Given the description of an element on the screen output the (x, y) to click on. 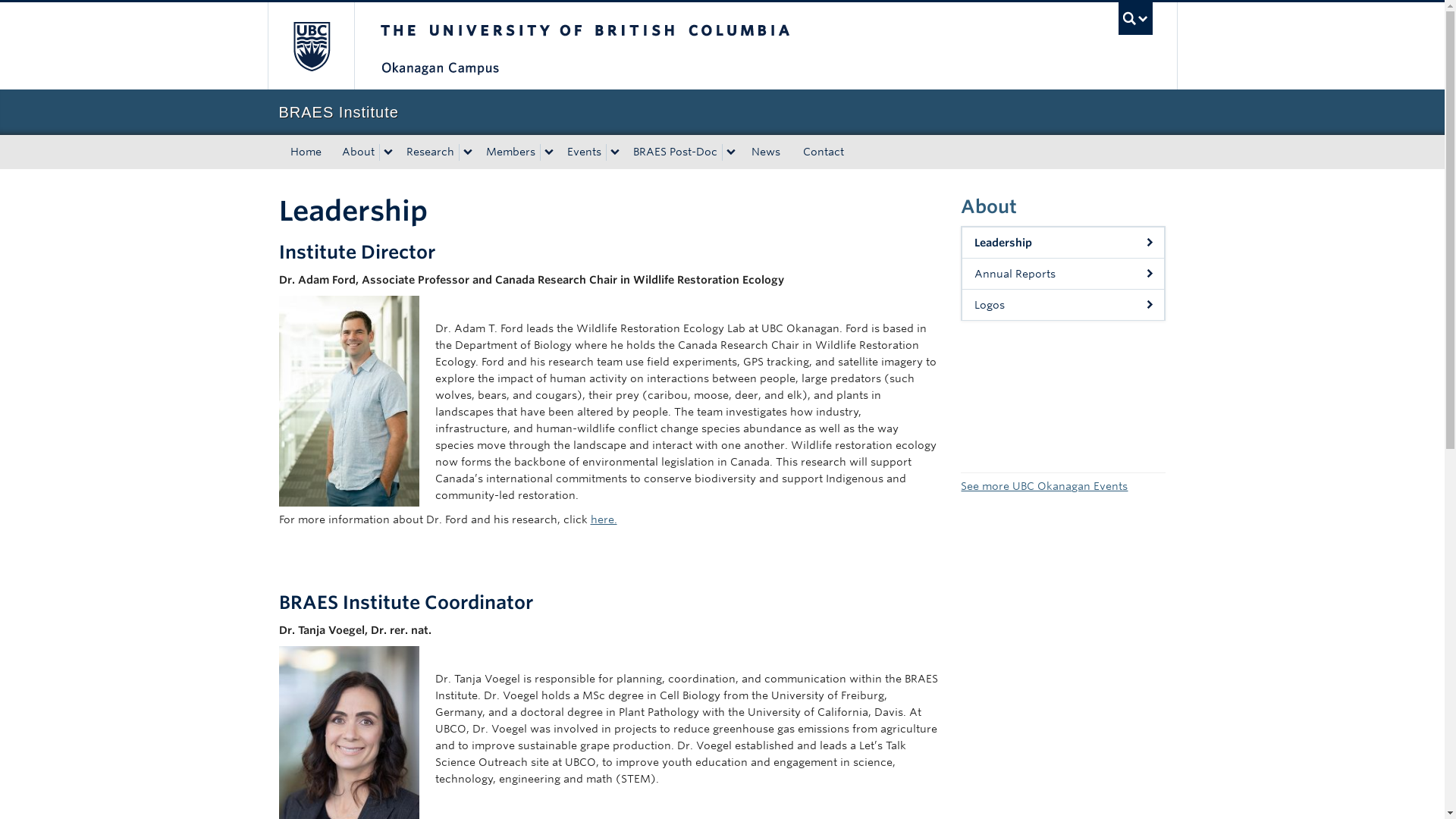
UBC Search (1135, 18)
The University of British Columbia (309, 45)
Home (306, 151)
Events (582, 151)
Research (428, 151)
BRAES Institute (722, 112)
News (765, 151)
categories (354, 151)
About (354, 151)
BRAES Institute (722, 112)
The University of British Columbia (635, 45)
Members (508, 151)
BRAES Post-Doc (672, 151)
